Given the description of an element on the screen output the (x, y) to click on. 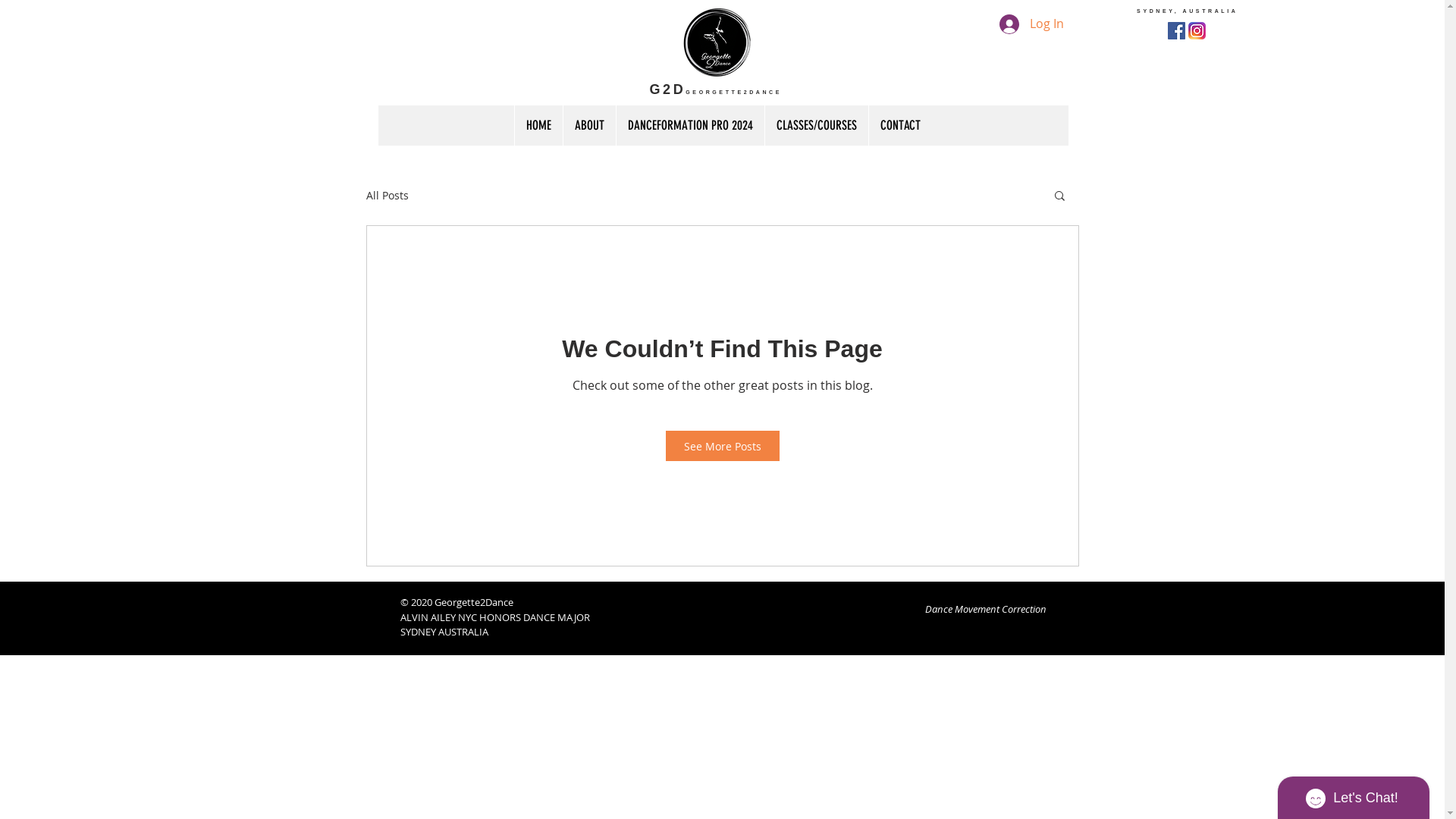
 SYDNEY, AUSTRALIA Element type: text (1183, 7)
HOME Element type: text (538, 125)
CONTACT Element type: text (899, 125)
DANCEFORMATION PRO 2024 Element type: text (689, 125)
Log In Element type: text (1031, 23)
G2DGEORGETTE2DANCE Element type: text (715, 89)
See More Posts Element type: text (722, 445)
ABOUT Element type: text (588, 125)
All Posts Element type: text (386, 195)
CLASSES/COURSES Element type: text (816, 125)
